Given the description of an element on the screen output the (x, y) to click on. 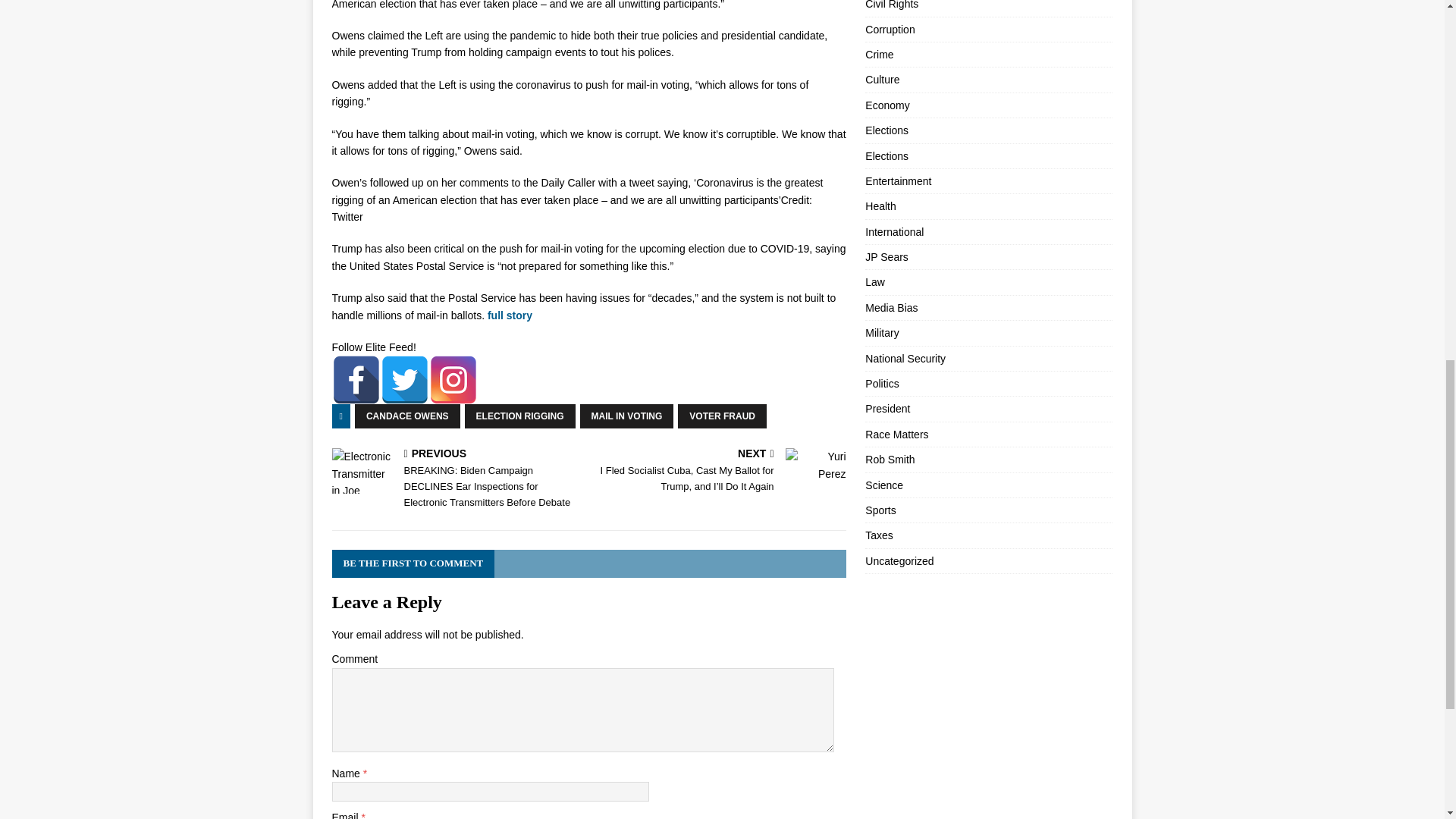
CANDACE OWENS (407, 416)
ELECTION RIGGING (519, 416)
full story (509, 315)
Instagram (453, 379)
Facebook (355, 379)
VOTER FRAUD (722, 416)
MAIL IN VOTING (626, 416)
Twitter (404, 379)
